Given the description of an element on the screen output the (x, y) to click on. 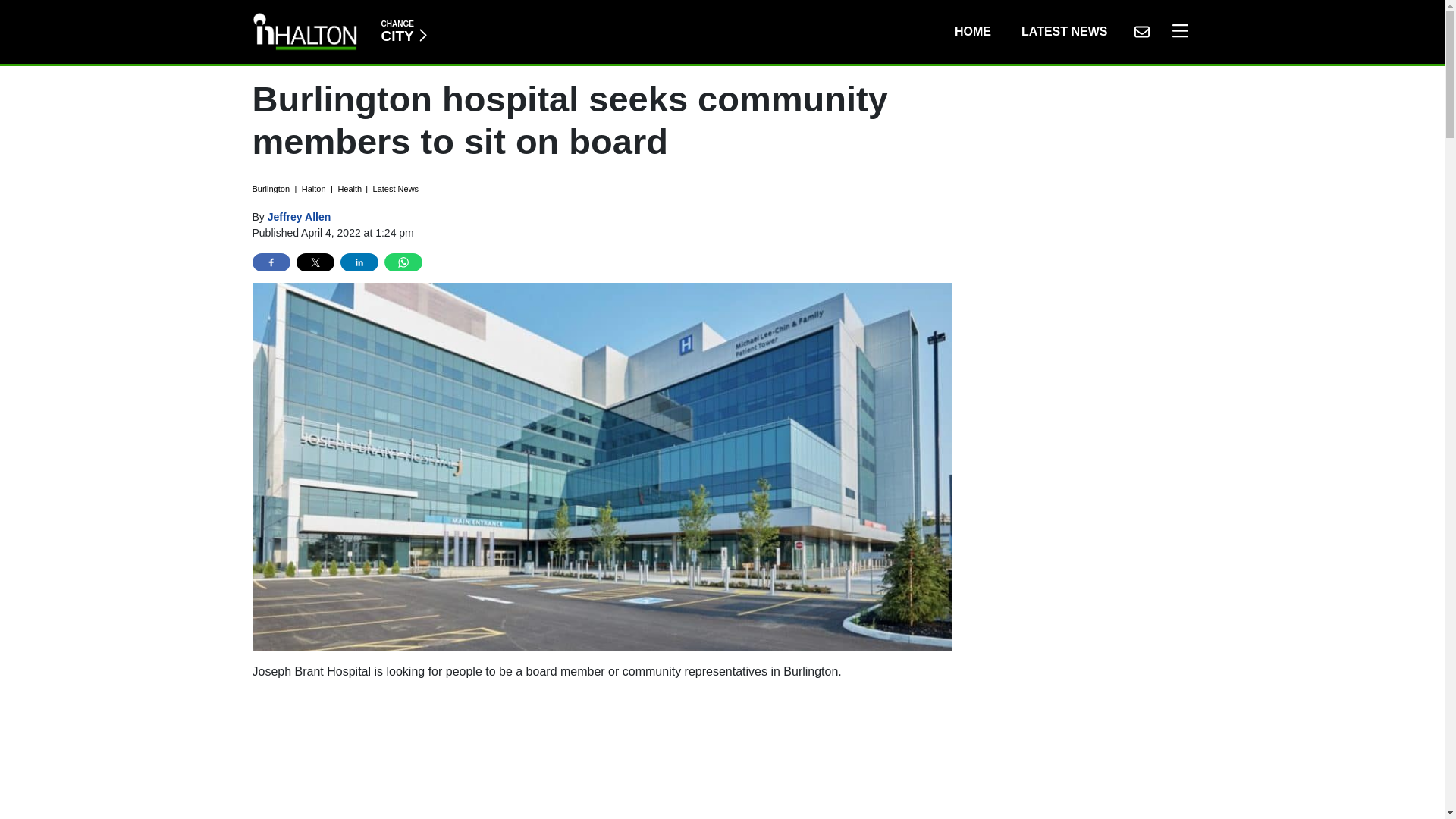
OPEN MENU (402, 31)
3rd party ad content (1176, 31)
SIGN UP FOR OUR NEWSLETTER (601, 755)
LATEST NEWS (1141, 31)
HOME (1064, 31)
Posts by 944 (972, 31)
